Given the description of an element on the screen output the (x, y) to click on. 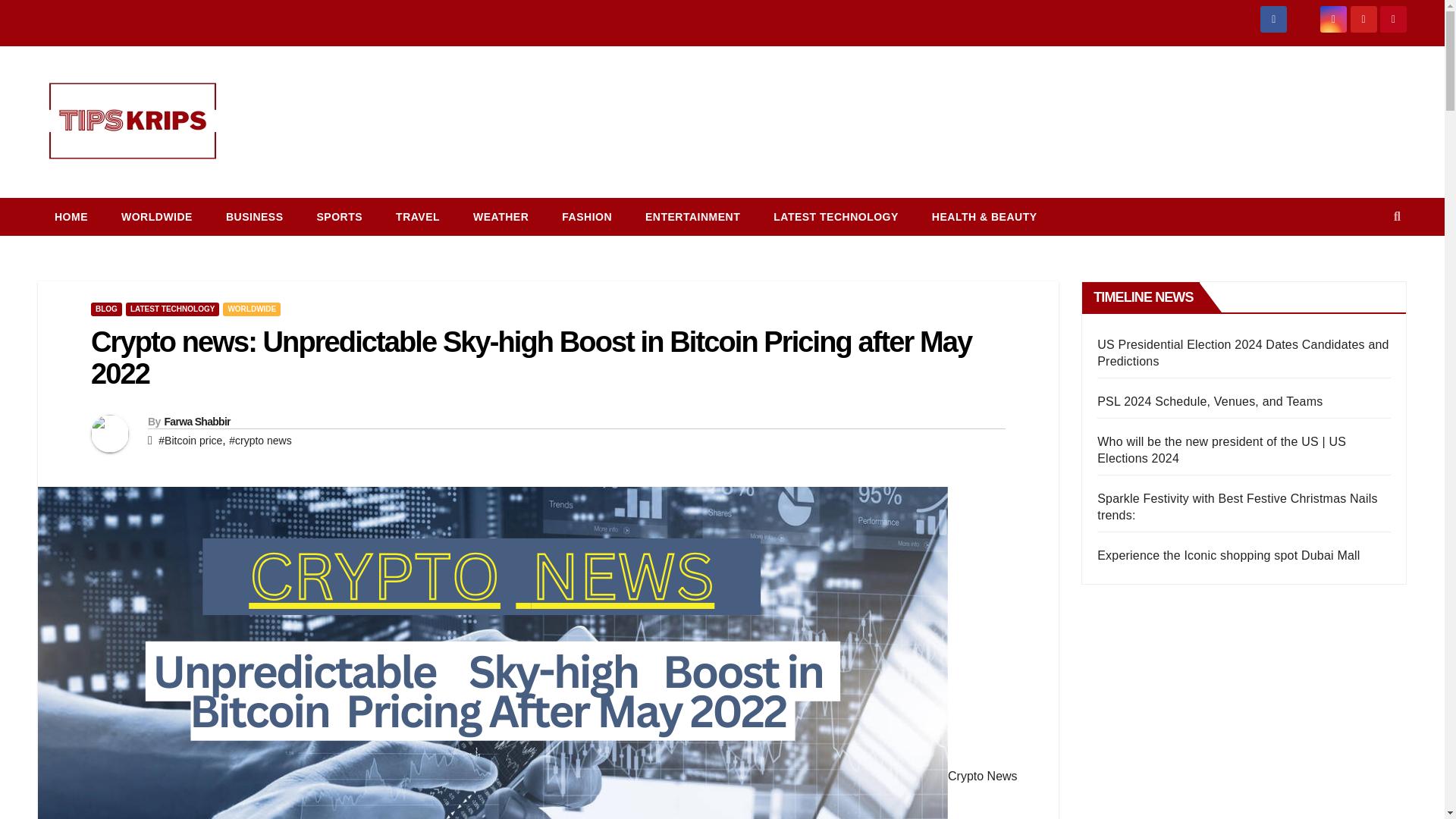
Tips Krips (64, 201)
WORLDWIDE (156, 216)
TRAVEL (417, 216)
Weather (500, 216)
ENTERTAINMENT (692, 216)
HOME (70, 216)
Business (254, 216)
WEATHER (500, 216)
Fashion (586, 216)
Latest Technology (836, 216)
